Given the description of an element on the screen output the (x, y) to click on. 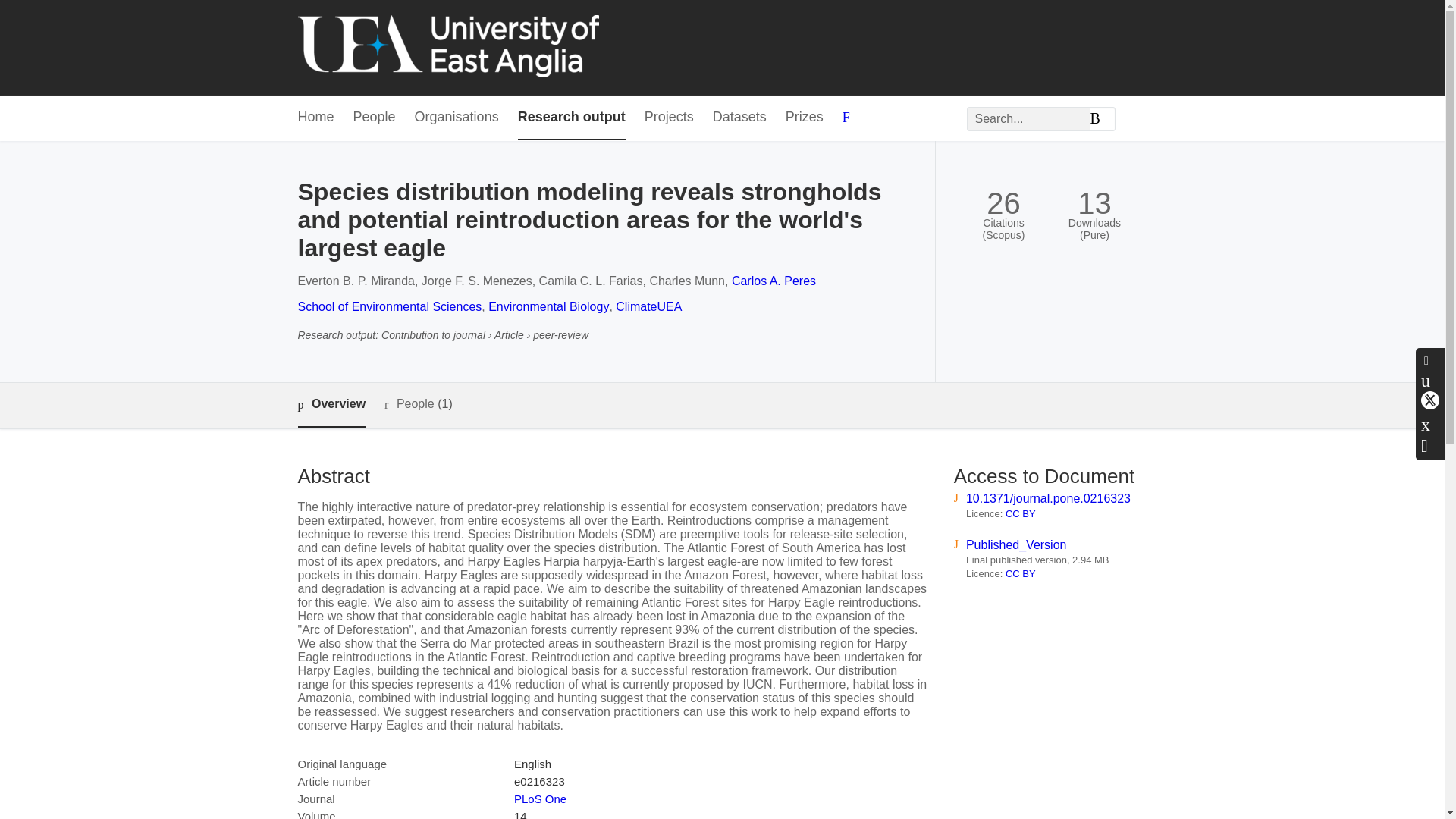
Projects (669, 117)
Overview (331, 405)
Carlos A. Peres (773, 280)
PLoS One (539, 798)
Environmental Biology (547, 306)
Organisations (456, 117)
Research output (572, 117)
School of Environmental Sciences (389, 306)
University of East Anglia Home (447, 47)
People (374, 117)
Prizes (805, 117)
Datasets (740, 117)
CC BY (1020, 573)
ClimateUEA (648, 306)
